Given the description of an element on the screen output the (x, y) to click on. 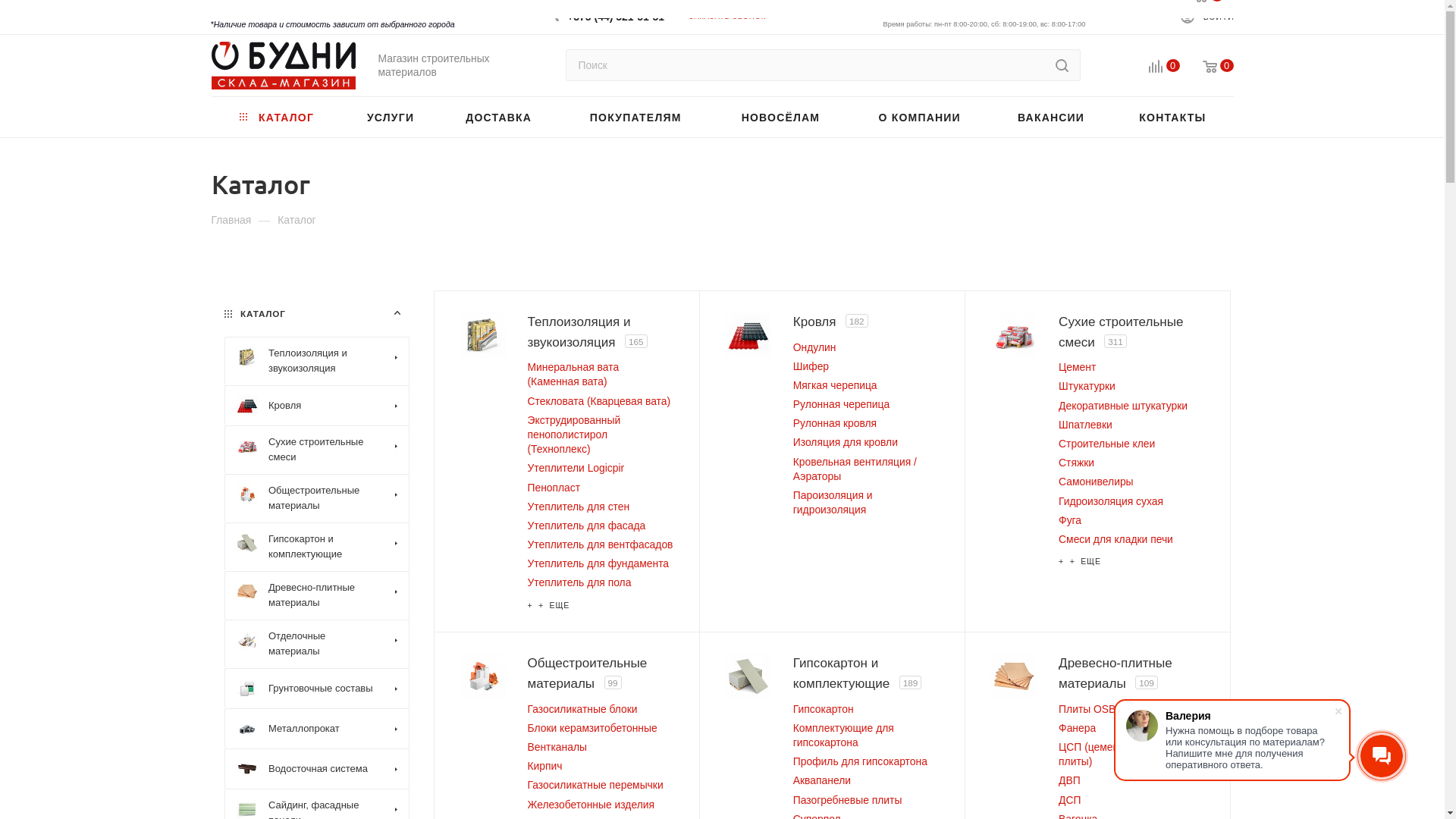
0 Element type: text (1206, 66)
+375 (44) 521-51-51 Element type: text (615, 11)
0 Element type: text (1152, 66)
